Given the description of an element on the screen output the (x, y) to click on. 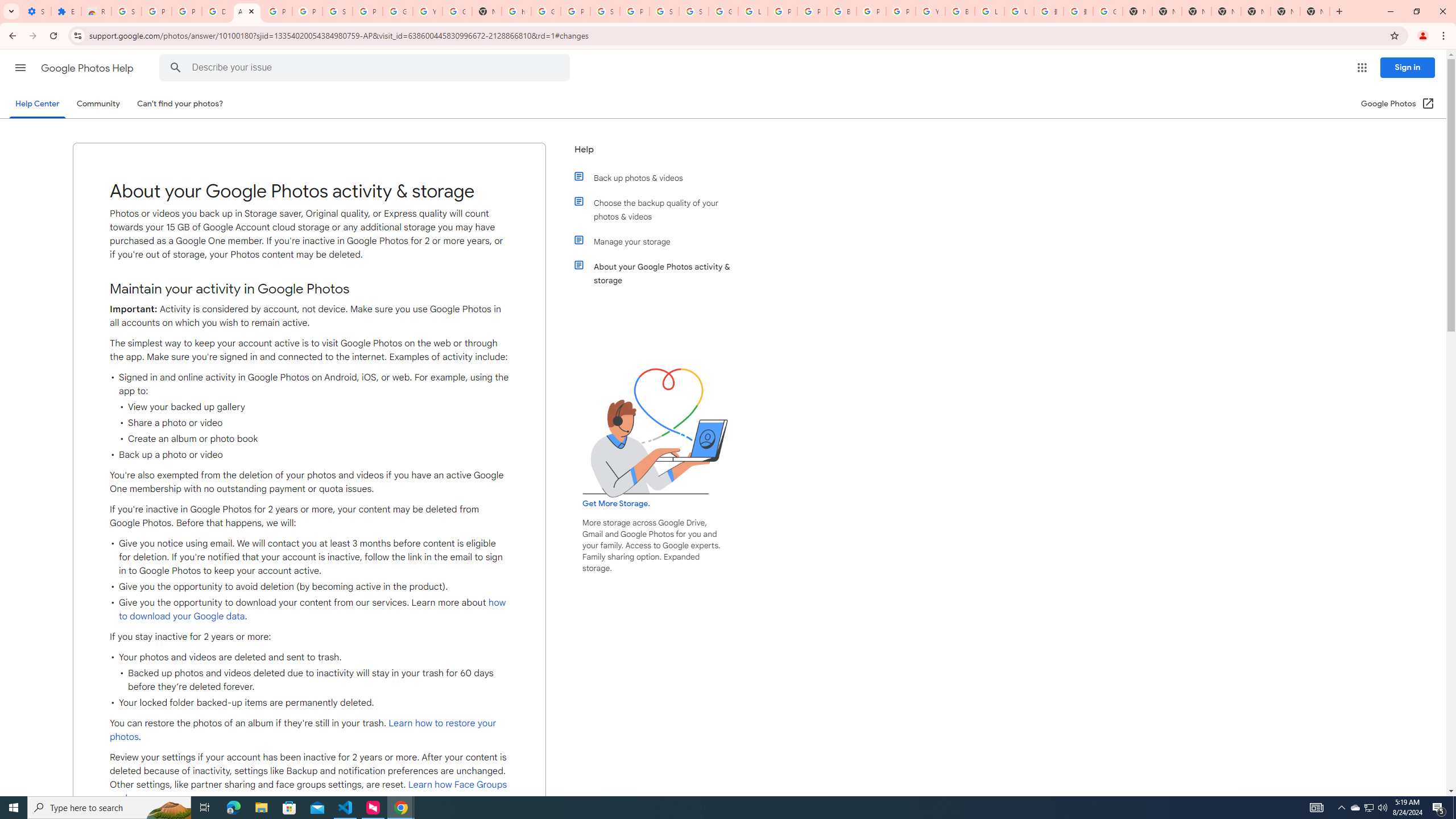
Google Photos Help (87, 68)
